Given the description of an element on the screen output the (x, y) to click on. 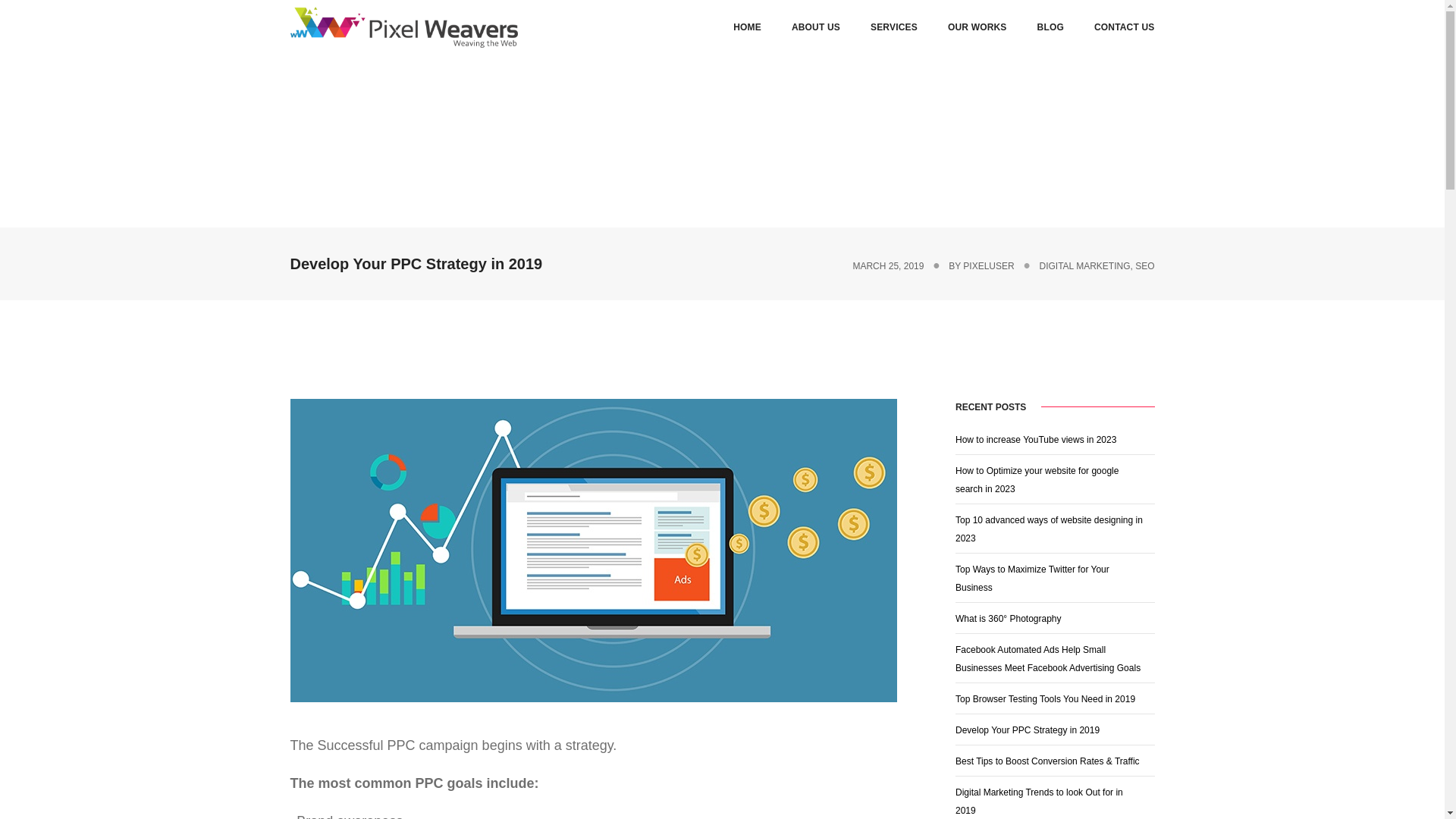
DIGITAL MARKETING (1084, 266)
Pixel Weavers (402, 26)
CONTACT US (1124, 27)
SEO (1144, 266)
PIXELUSER (987, 266)
OUR WORKS (977, 27)
